Given the description of an element on the screen output the (x, y) to click on. 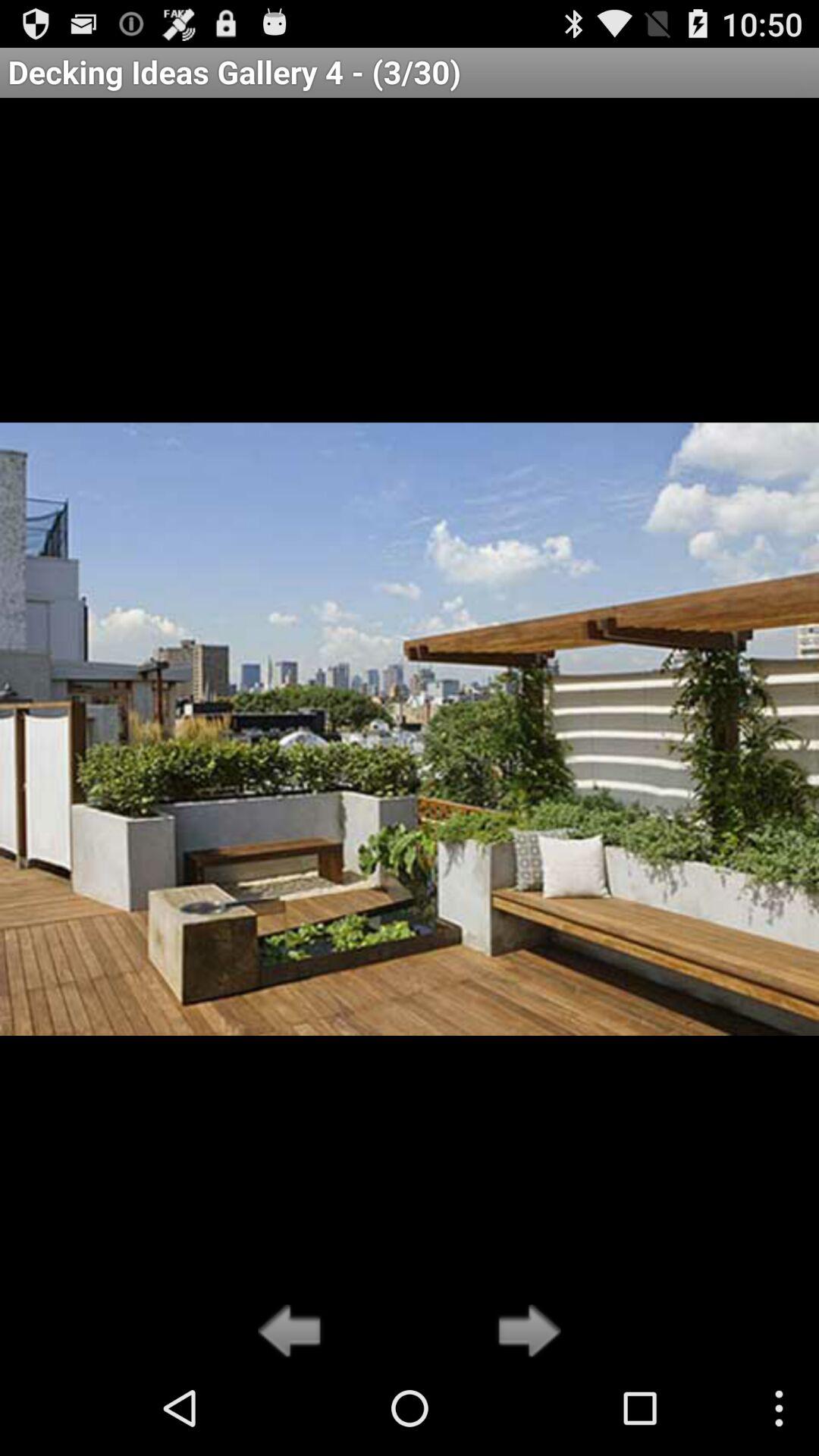
go to previous (293, 1332)
